Given the description of an element on the screen output the (x, y) to click on. 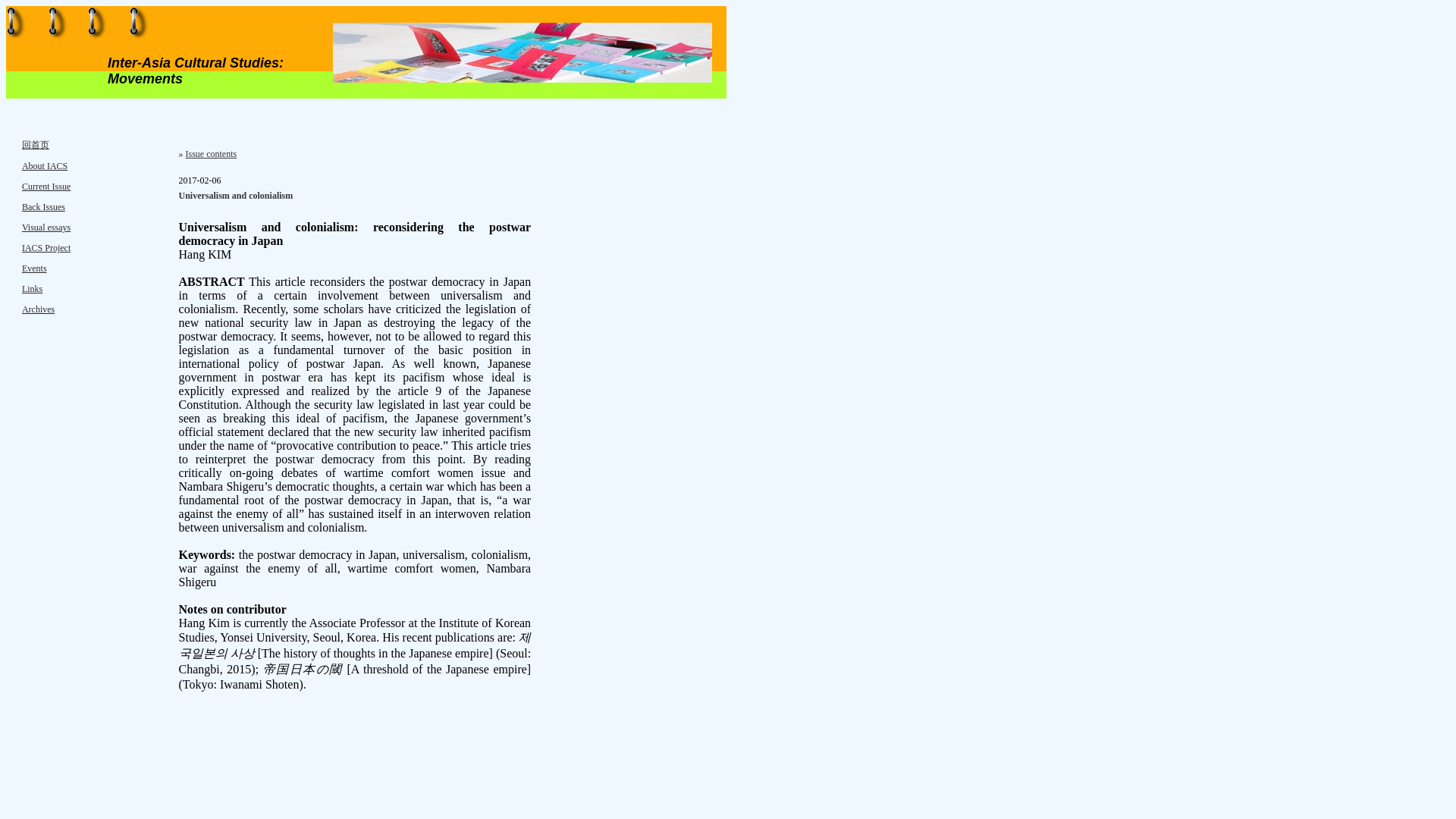
Visual essays (45, 226)
About IACS (43, 165)
Back Issues (43, 206)
Issue contents (211, 153)
Archives (38, 308)
Current Issue (45, 185)
Links (31, 288)
IACS Project (45, 247)
Events (33, 267)
